Given the description of an element on the screen output the (x, y) to click on. 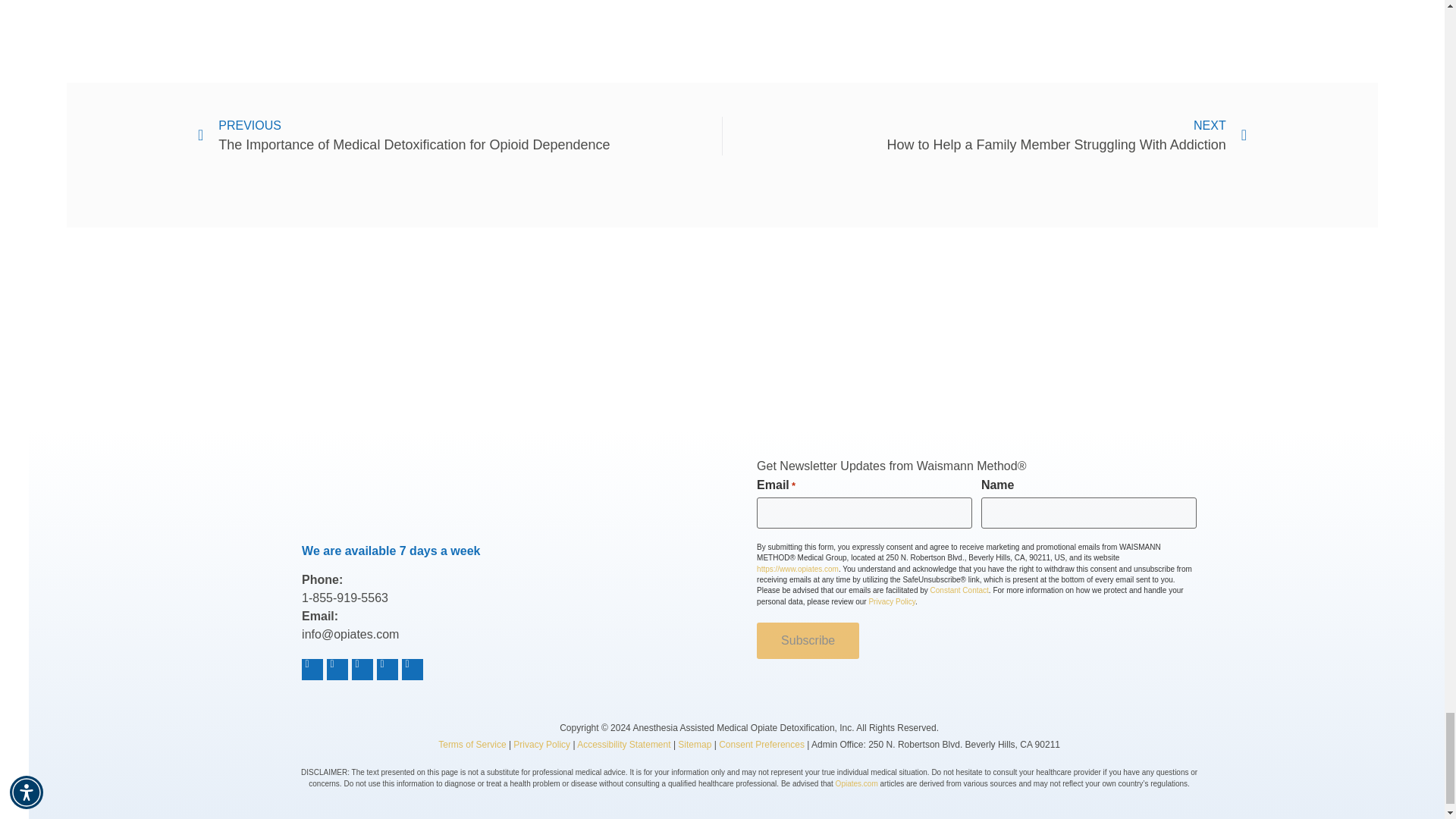
Subscribe (808, 640)
expertise (809, 329)
